Given the description of an element on the screen output the (x, y) to click on. 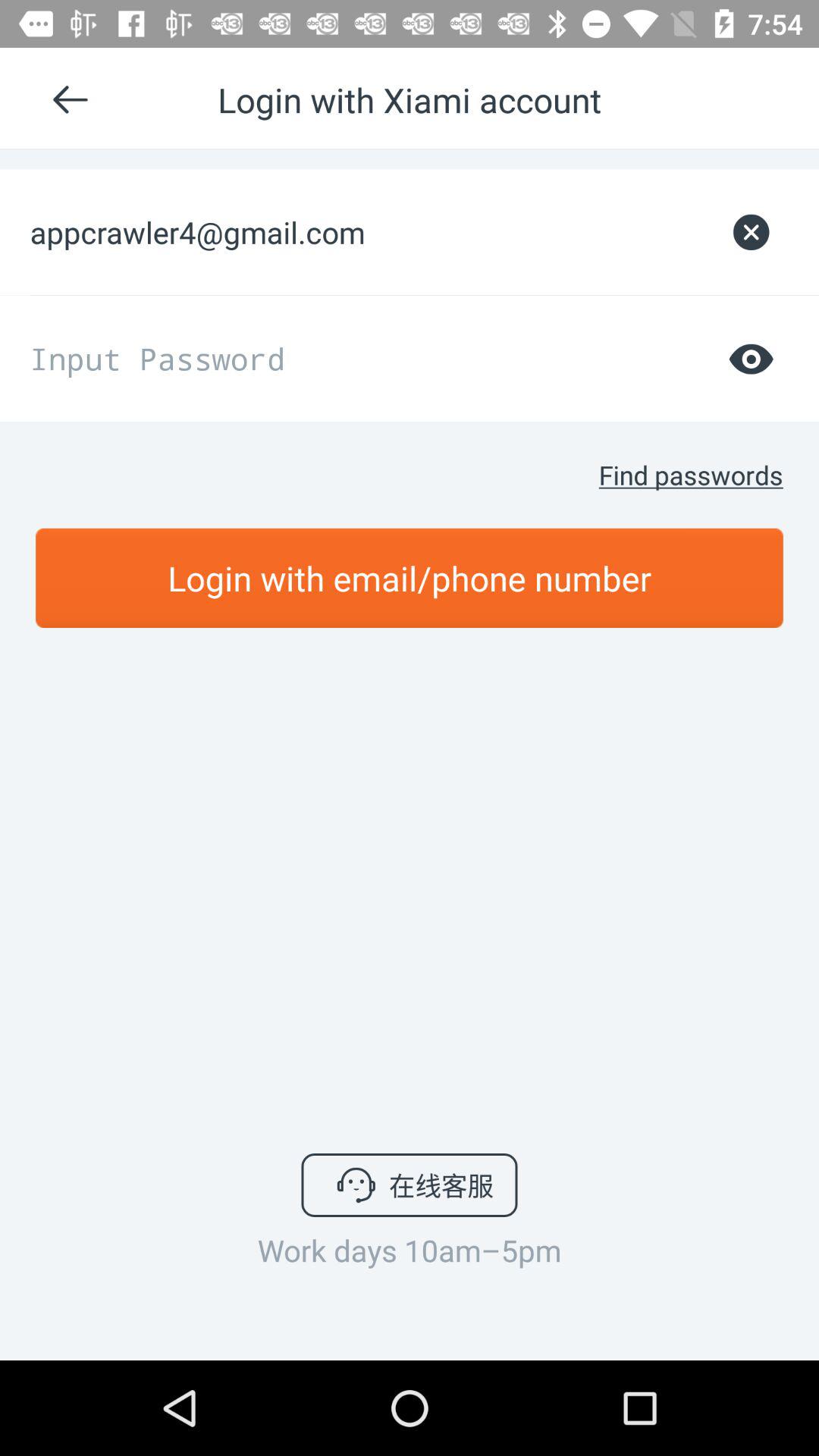
enter left arrow (70, 98)
click on top left corner button (77, 99)
select the eye button above the find passwords (750, 358)
select the icon mention in button at bottom center of the page (357, 1185)
select the text which is to the right side of the back arrow button (409, 99)
click on orange button (409, 577)
